Given the description of an element on the screen output the (x, y) to click on. 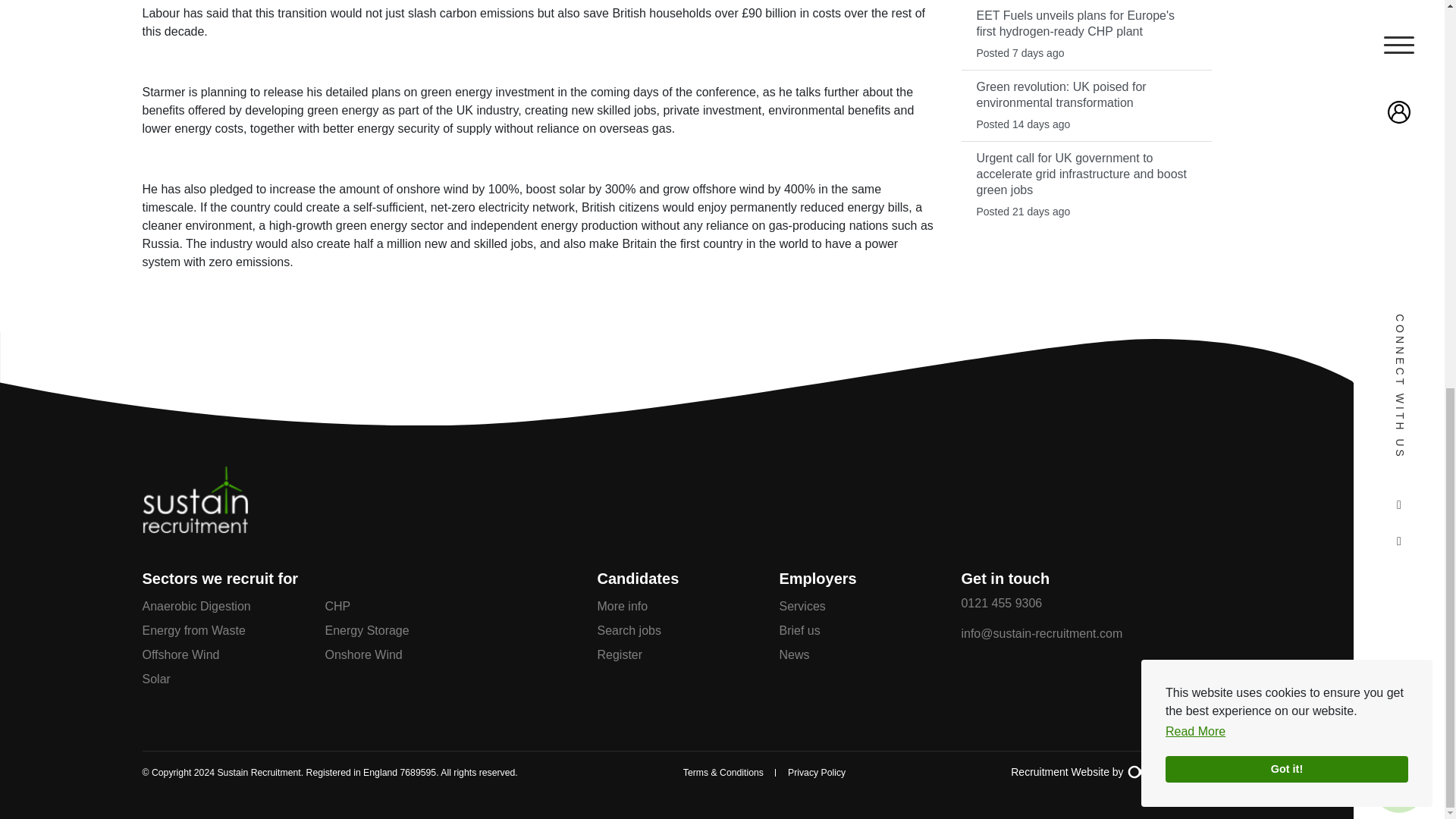
Read More (1195, 4)
Job Search (1399, 49)
Home (195, 540)
Job Search (1399, 49)
Got it! (1272, 33)
